Given the description of an element on the screen output the (x, y) to click on. 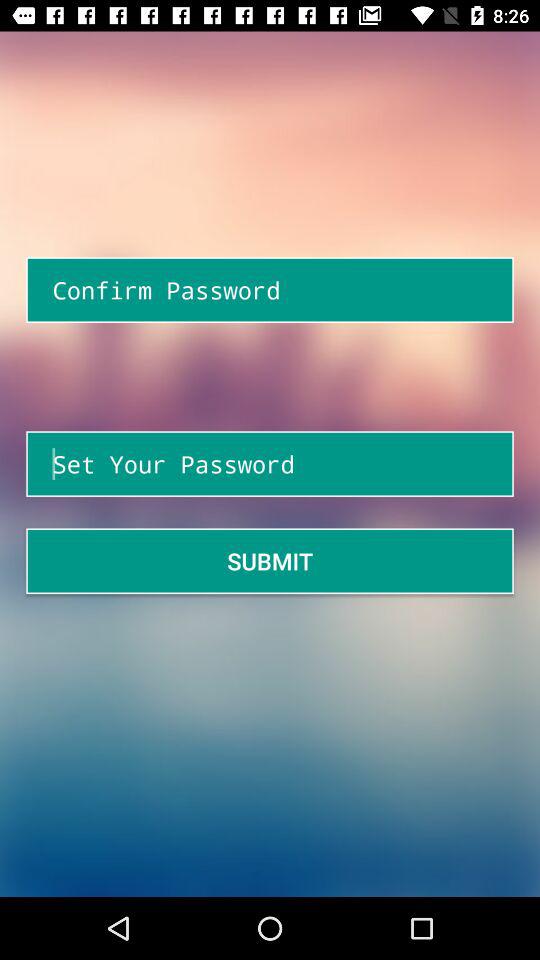
open submit (269, 560)
